Given the description of an element on the screen output the (x, y) to click on. 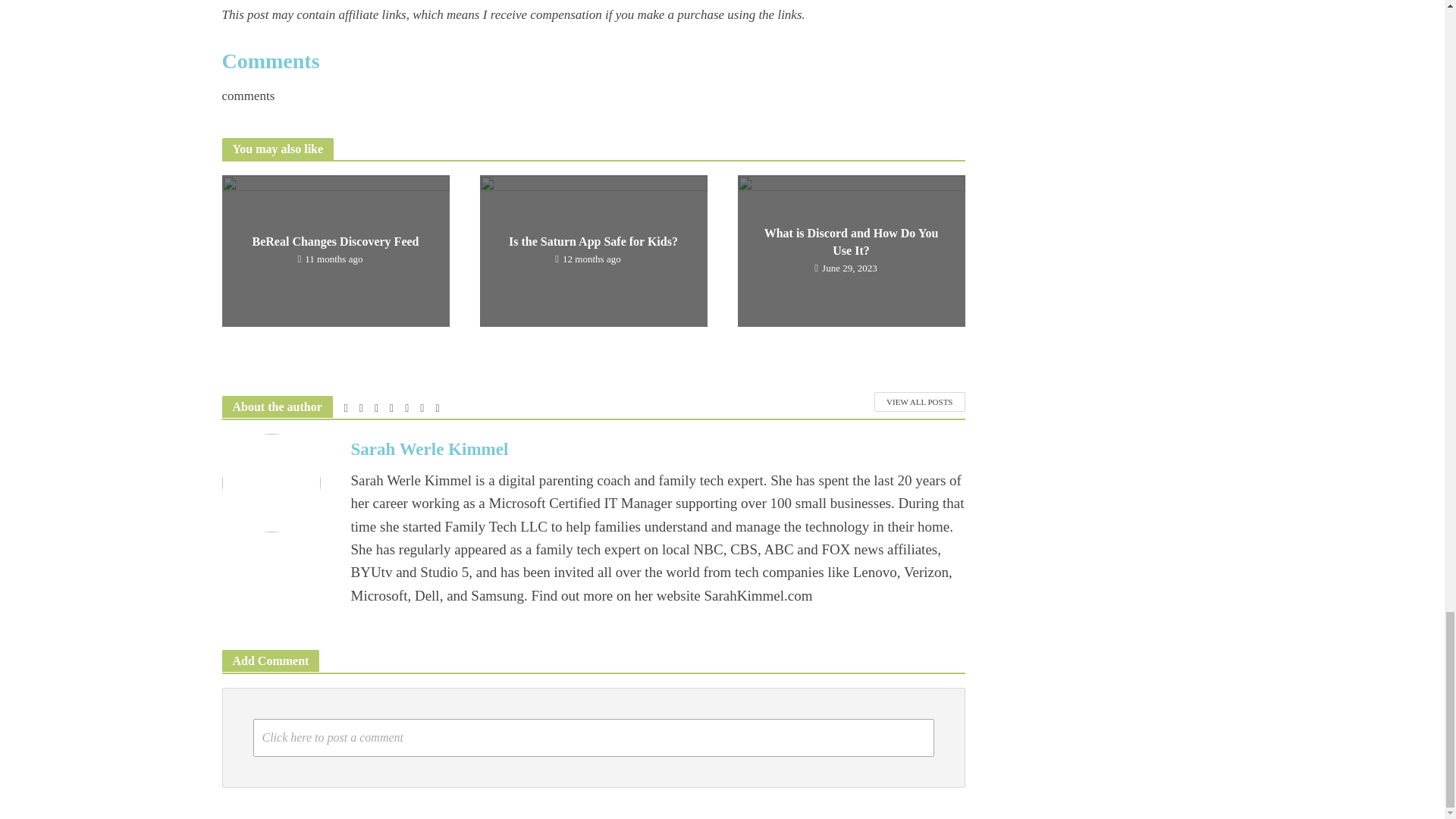
Is the Saturn App Safe for Kids? (592, 249)
BeReal Changes Discovery Feed (334, 249)
What is Discord and How Do You Use It? (849, 249)
